Given the description of an element on the screen output the (x, y) to click on. 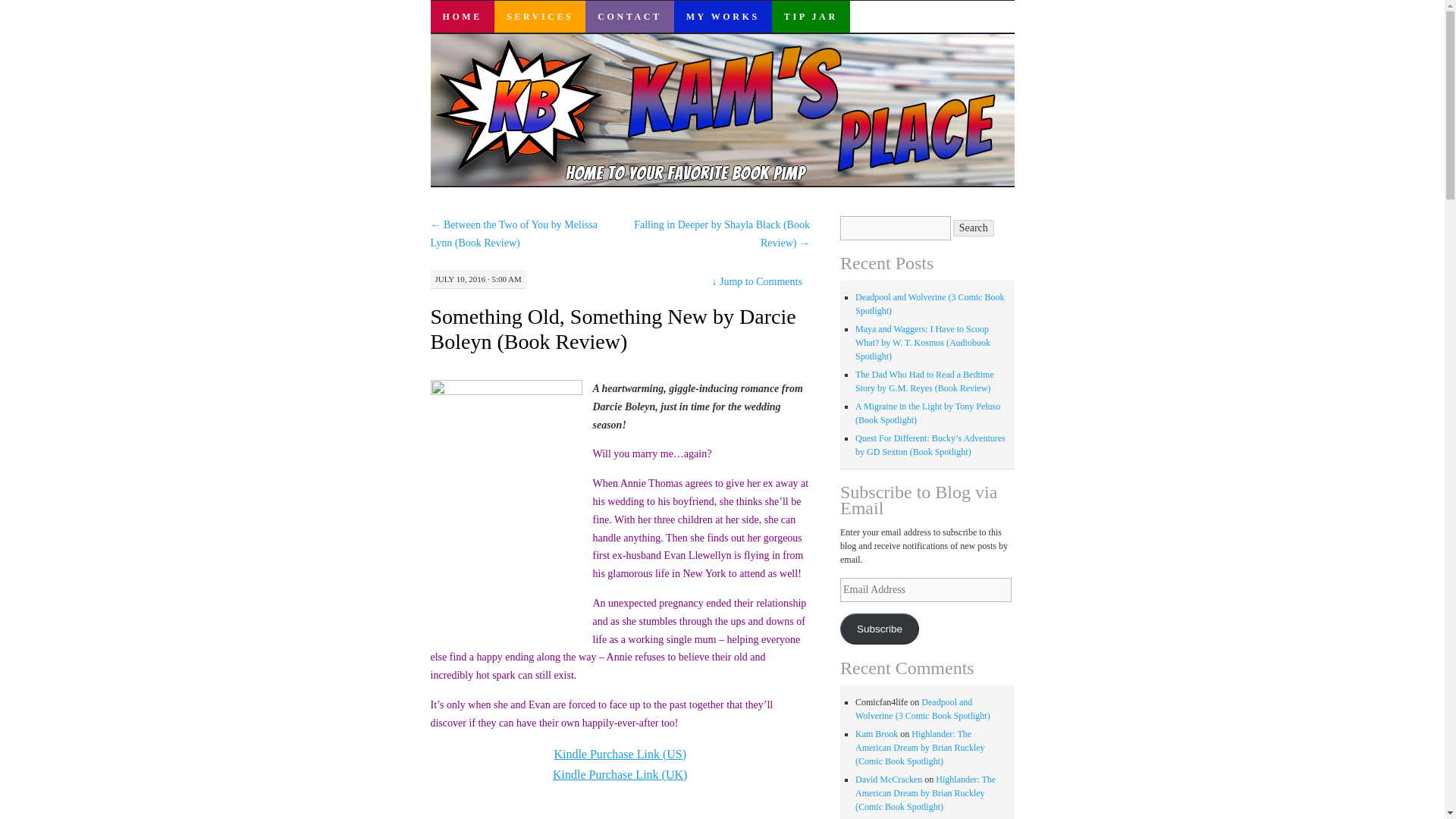
TIP JAR (810, 16)
MY WORKS (722, 16)
Skip to content (440, 47)
HOME (462, 16)
SERVICES (540, 16)
SKIP TO CONTENT (440, 47)
Search (973, 228)
CONTACT (628, 16)
